Given the description of an element on the screen output the (x, y) to click on. 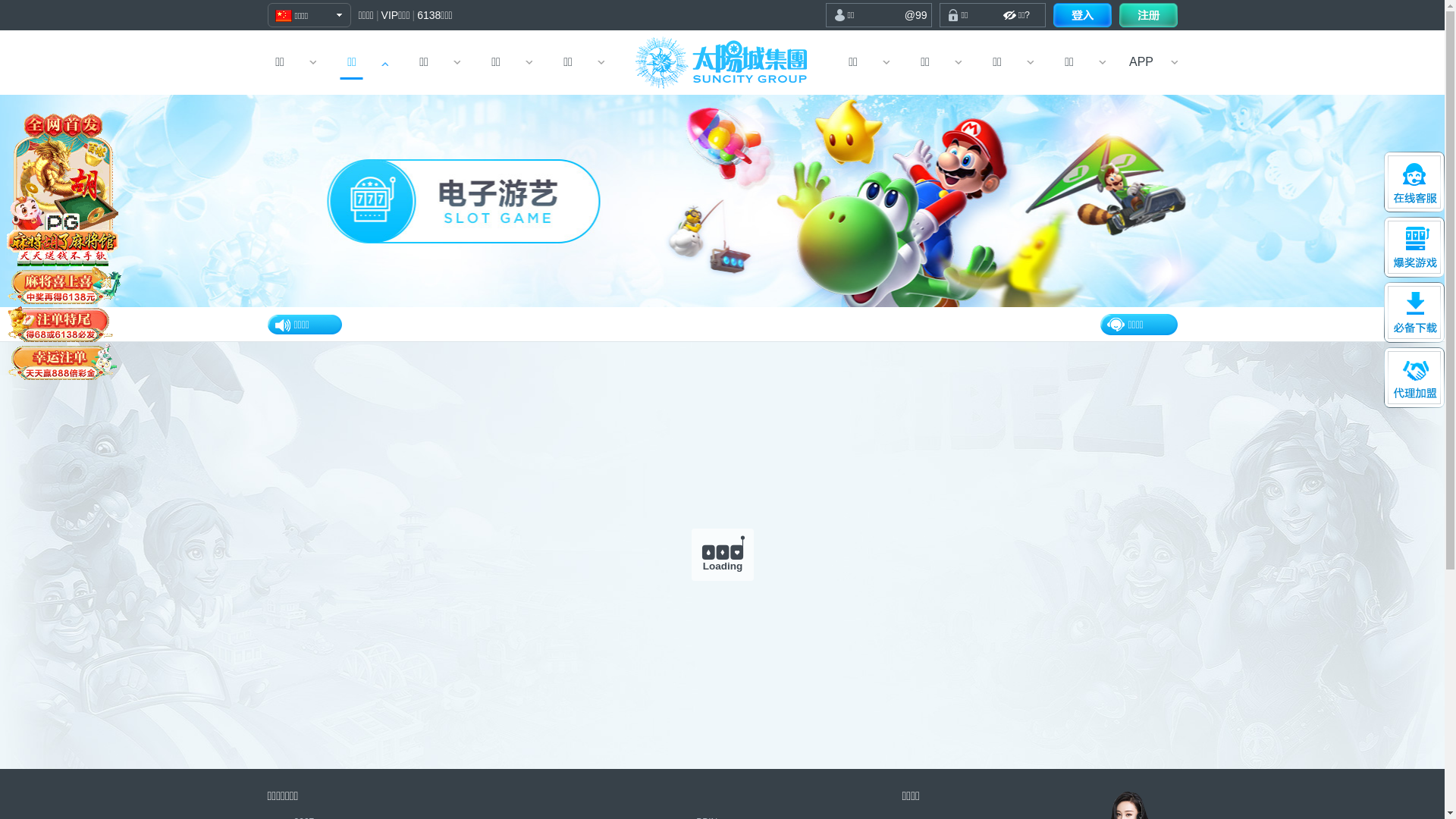
APP Element type: text (1141, 62)
